Given the description of an element on the screen output the (x, y) to click on. 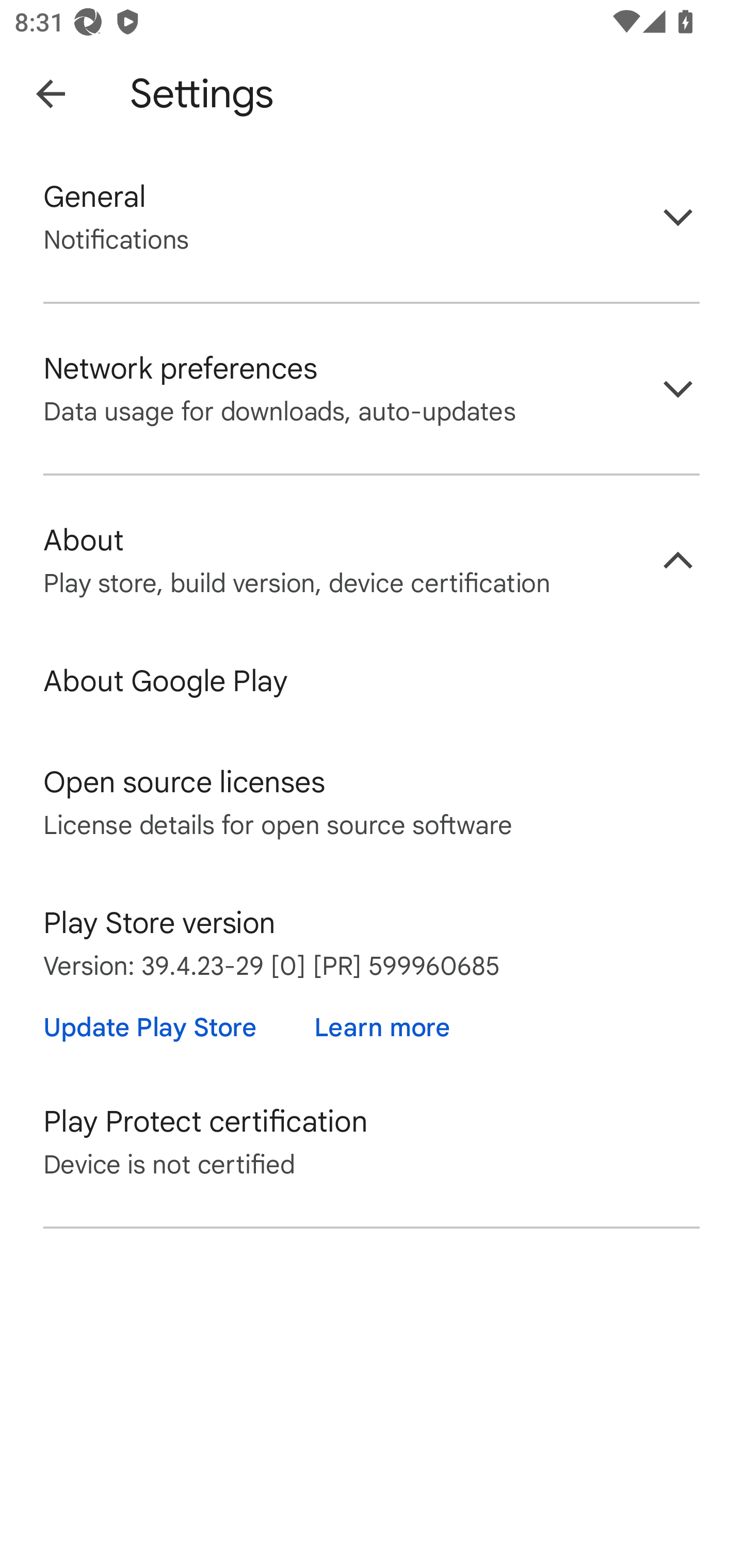
Navigate up (50, 93)
About Google Play (371, 681)
Update Play Store (149, 1027)
Learn more (382, 1027)
Play Protect certification Device is not certified (371, 1141)
